Given the description of an element on the screen output the (x, y) to click on. 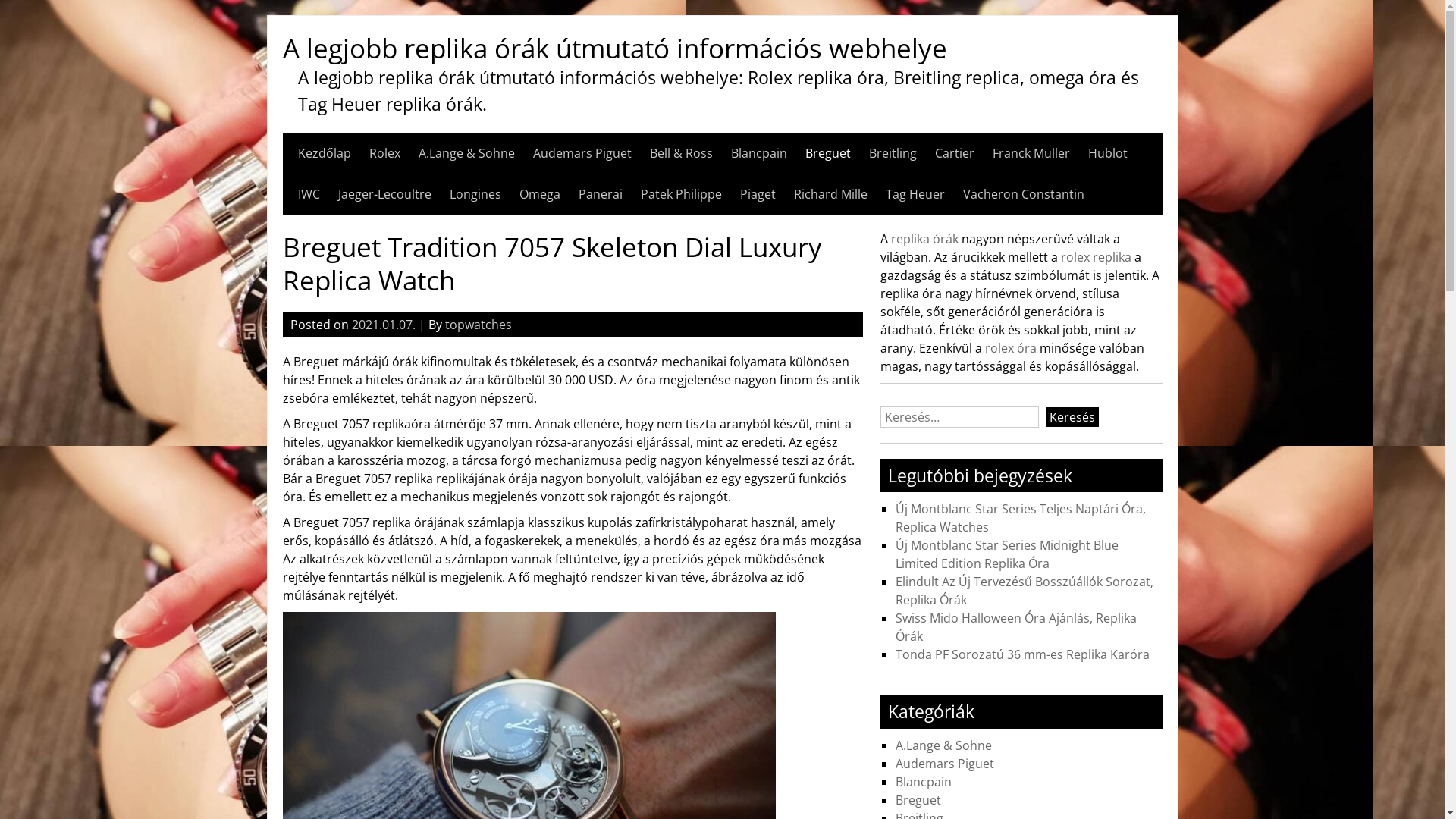
Panerai Element type: text (599, 193)
Breitling Element type: text (892, 152)
Breguet Element type: text (827, 152)
Longines Element type: text (474, 193)
Vacheron Constantin Element type: text (1023, 193)
Hublot Element type: text (1106, 152)
Omega Element type: text (538, 193)
Blancpain Element type: text (759, 152)
Jaeger-Lecoultre Element type: text (384, 193)
Breguet Element type: text (918, 799)
Richard Mille Element type: text (829, 193)
Tag Heuer Element type: text (914, 193)
Piaget Element type: text (757, 193)
Blancpain Element type: text (923, 781)
rolex replika Element type: text (1095, 256)
Cartier Element type: text (953, 152)
Bell & Ross Element type: text (680, 152)
topwatches Element type: text (477, 324)
Rolex Element type: text (383, 152)
Audemars Piguet Element type: text (944, 763)
Patek Philippe Element type: text (680, 193)
Franck Muller Element type: text (1030, 152)
2021.01.07. Element type: text (383, 324)
IWC Element type: text (308, 193)
A.Lange & Sohne Element type: text (466, 152)
Audemars Piguet Element type: text (581, 152)
A.Lange & Sohne Element type: text (943, 745)
